Given the description of an element on the screen output the (x, y) to click on. 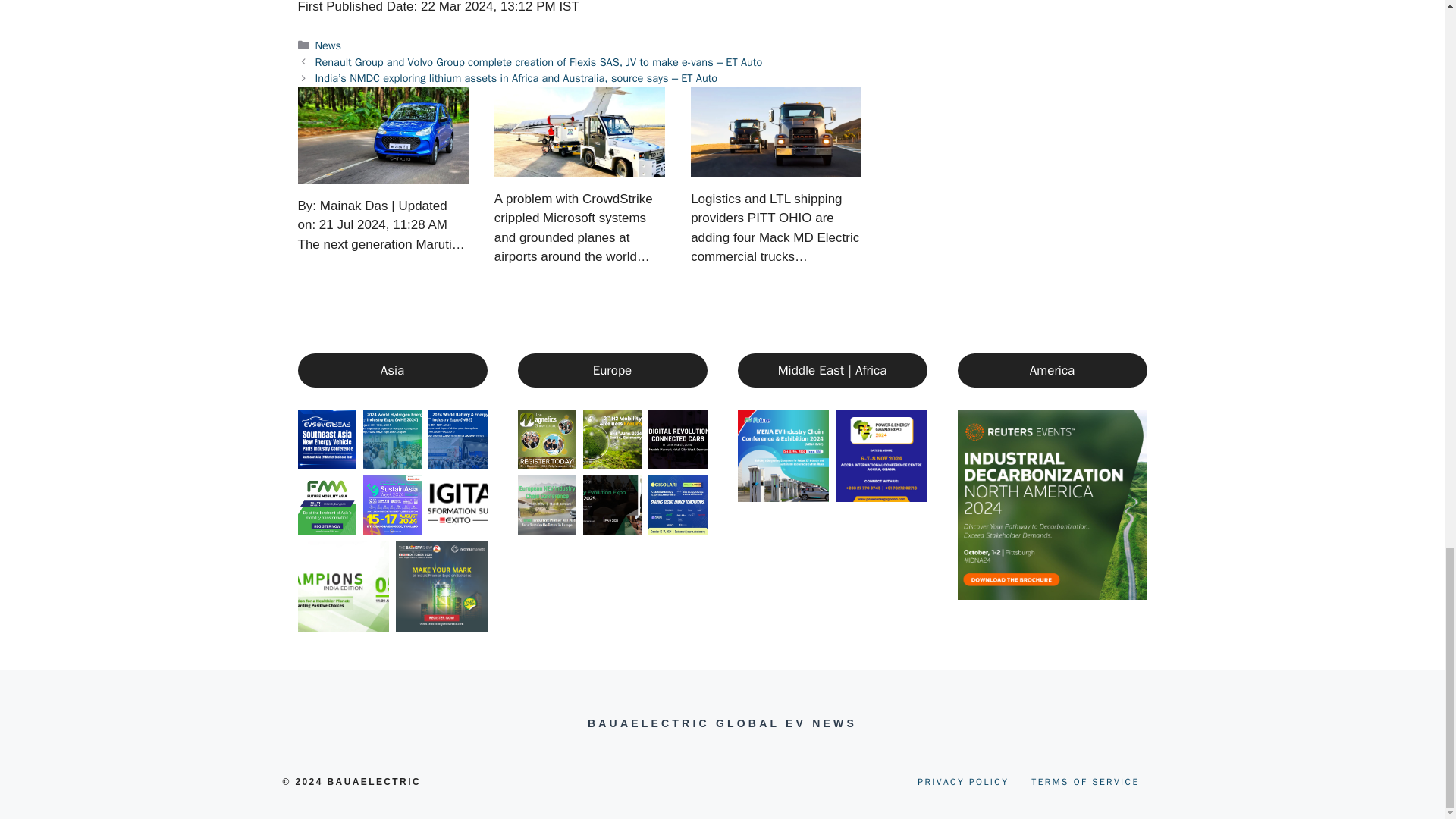
Mack MD Electric semi truck gets to work at PITT OHIO fleet (775, 166)
Mack MD Electric semi truck gets to work at PITT OHIO fleet (775, 131)
